Given the description of an element on the screen output the (x, y) to click on. 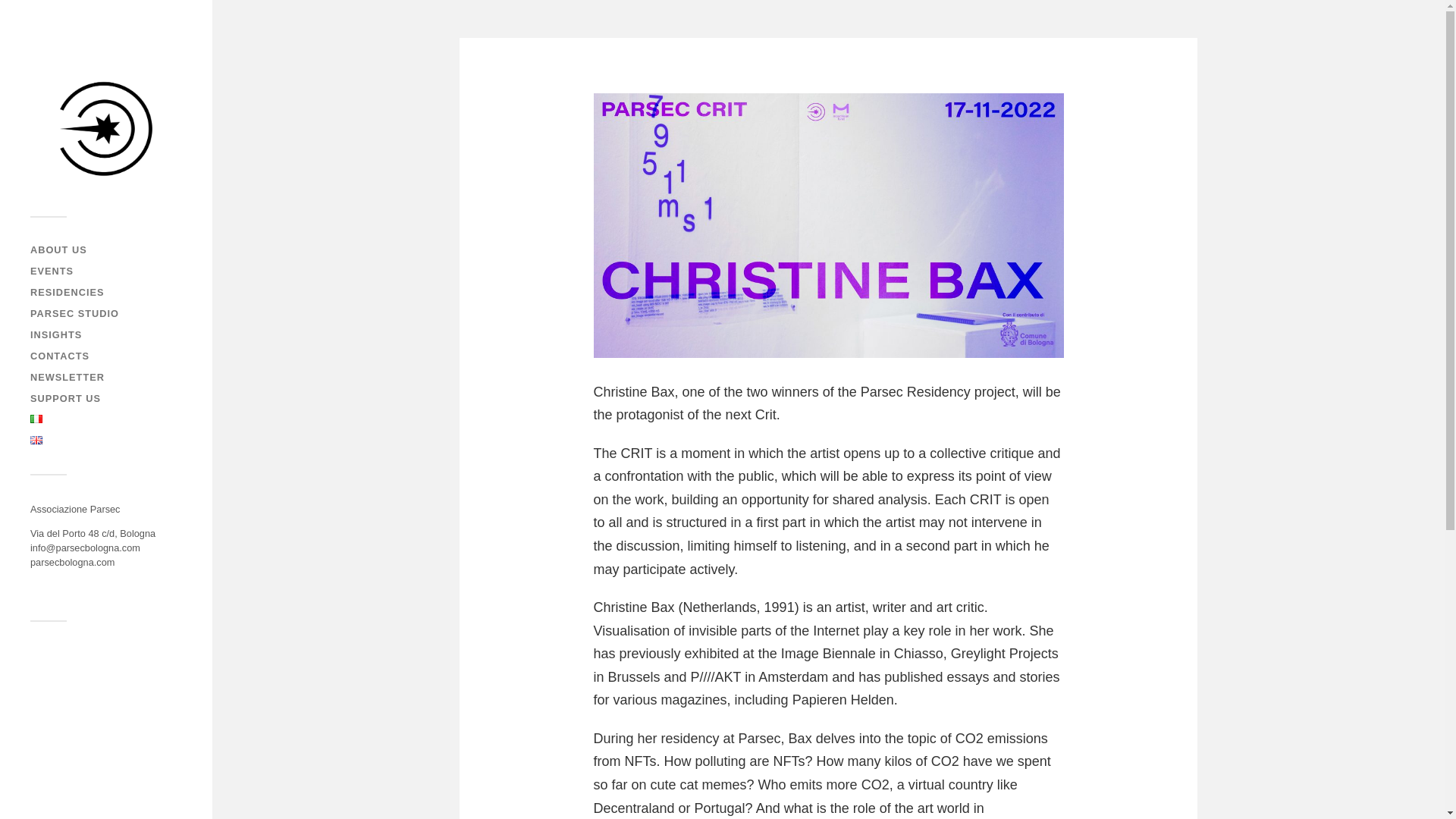
SUPPORT US (65, 398)
NEWSLETTER (67, 377)
ABOUT US (58, 249)
CONTACTS (59, 355)
INSIGHTS (55, 334)
PARSEC STUDIO (74, 313)
EVENTS (52, 270)
RESIDENCIES (67, 292)
